Given the description of an element on the screen output the (x, y) to click on. 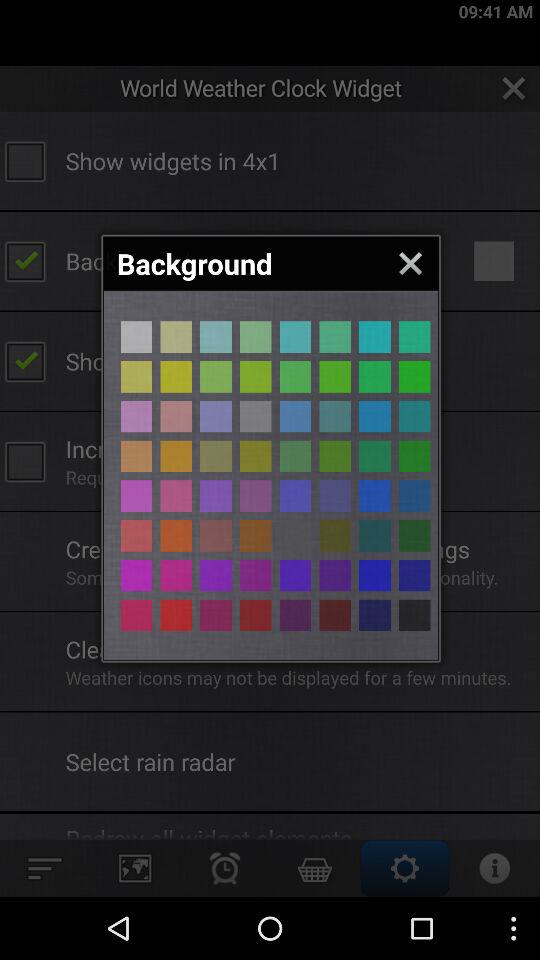
select background colour (136, 575)
